Given the description of an element on the screen output the (x, y) to click on. 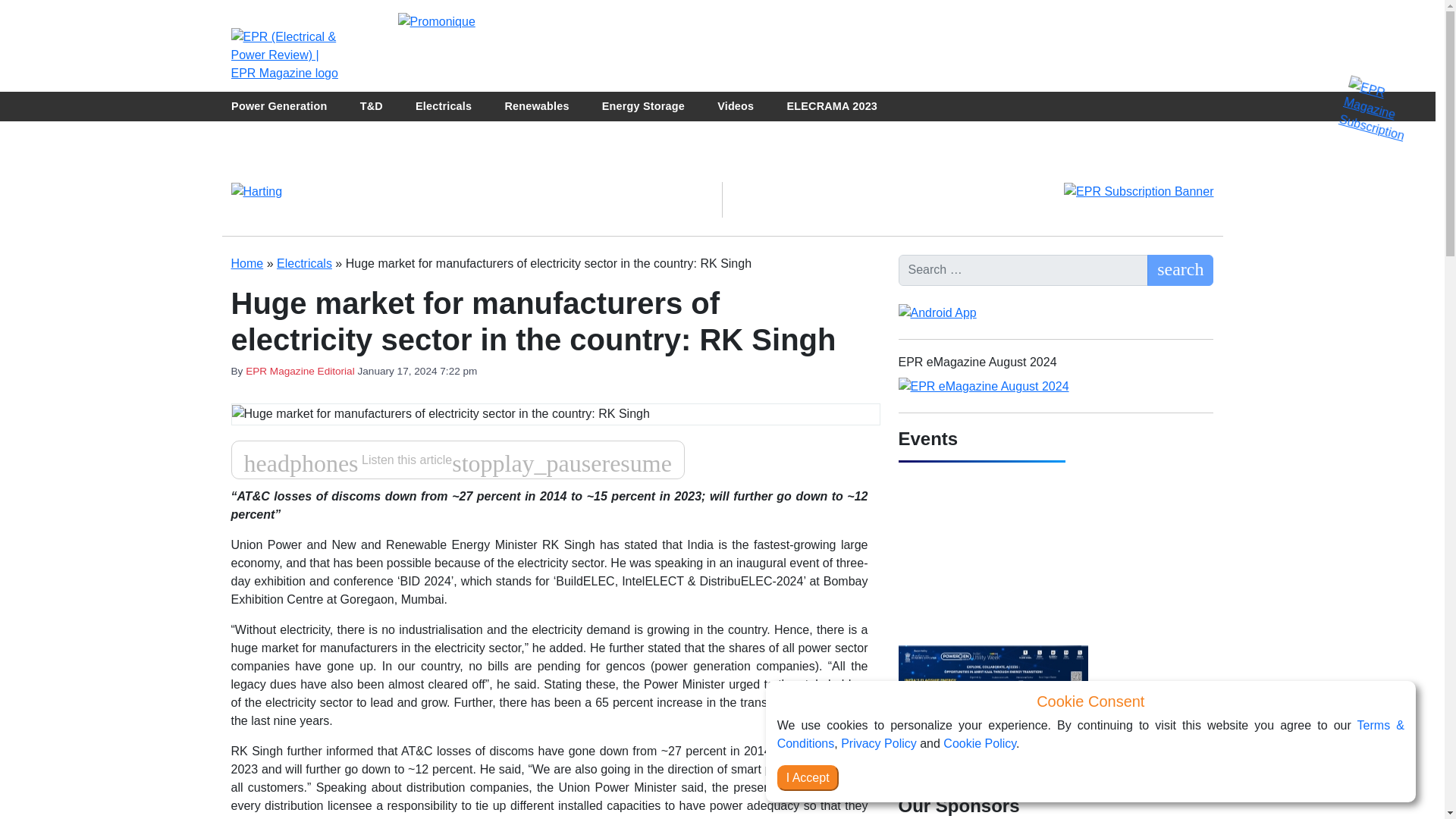
ELECRAMA 2023 (831, 106)
Electricals (303, 263)
Electricals (303, 263)
Electricals (442, 106)
Home (246, 263)
resume (636, 456)
Pause (547, 463)
Power Generation (279, 106)
headphones Listen this article (348, 456)
Cookie Policy (979, 743)
